Given the description of an element on the screen output the (x, y) to click on. 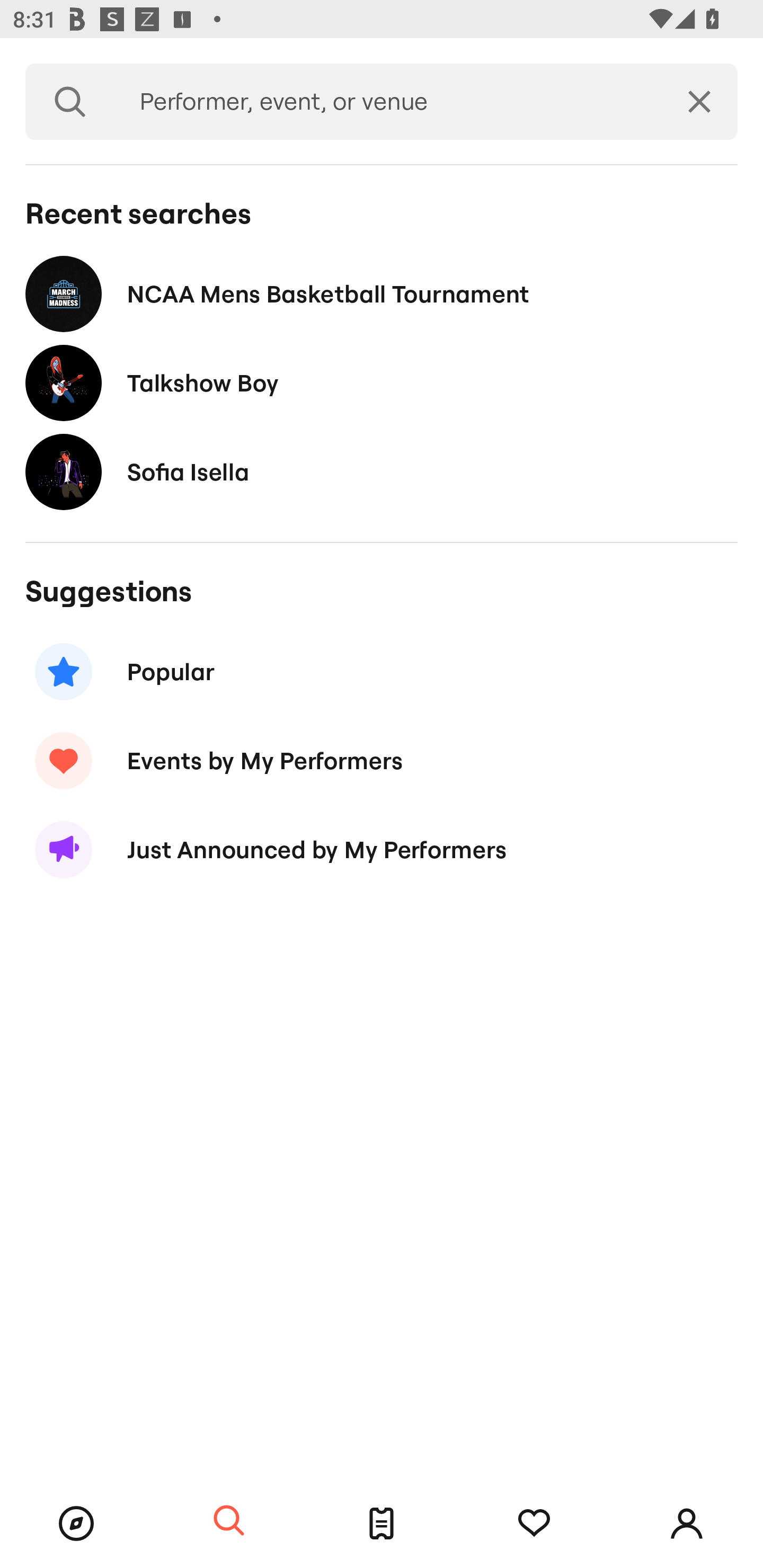
Search (69, 101)
Performer, event, or venue (387, 101)
Clear (699, 101)
NCAA Mens Basketball Tournament (381, 293)
Talkshow Boy (381, 383)
Sofia Isella (381, 471)
Popular (381, 671)
Events by My Performers (381, 760)
Just Announced by My Performers (381, 849)
Browse (76, 1523)
Search (228, 1521)
Tickets (381, 1523)
Tracking (533, 1523)
Account (686, 1523)
